Given the description of an element on the screen output the (x, y) to click on. 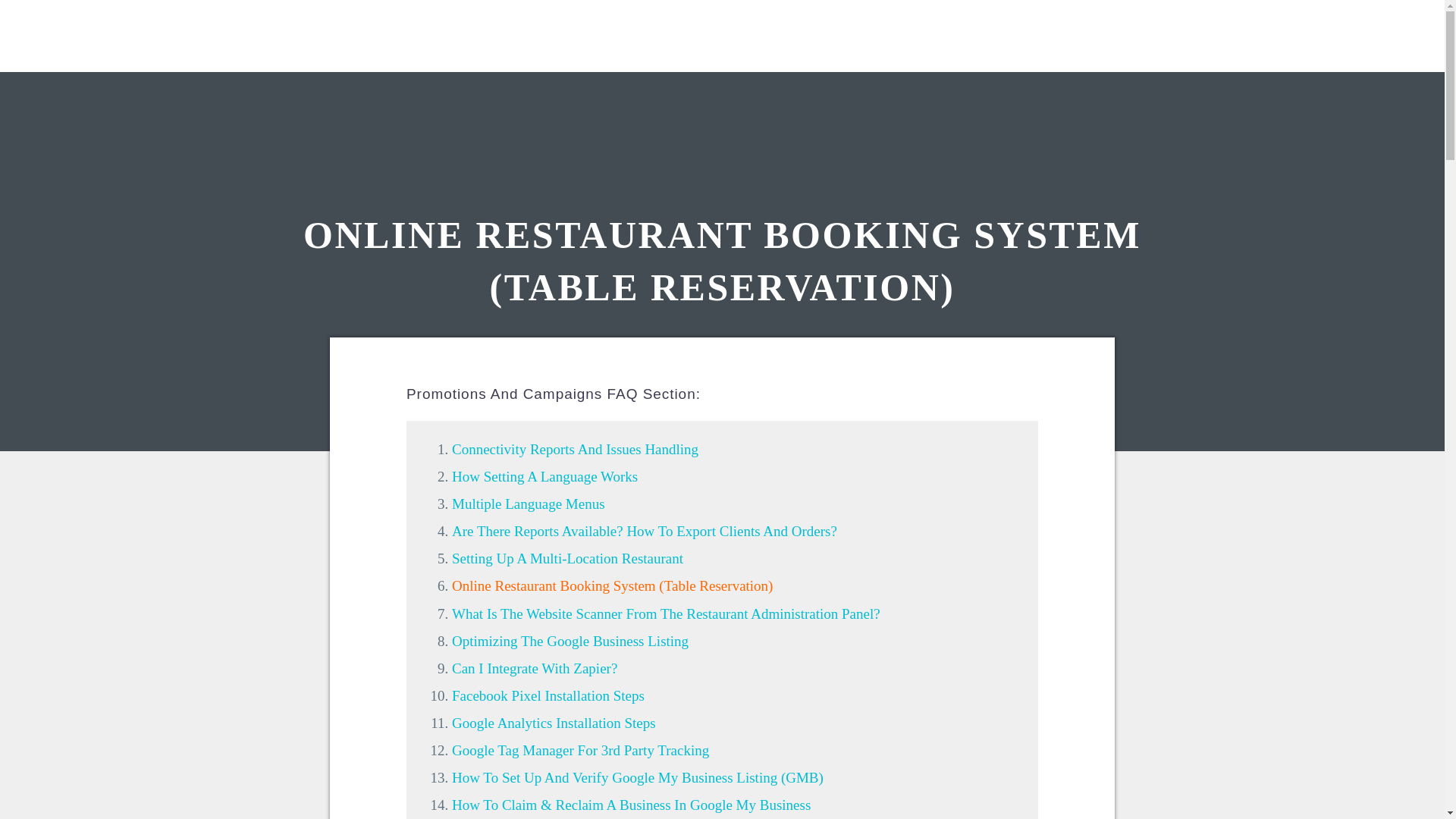
Google Analytics Installation Steps (553, 722)
Google Tag Manager For 3rd Party Tracking (580, 750)
Connectivity Reports And Issues Handling (574, 449)
Setting Up A Multi-Location Restaurant (566, 558)
Multiple Language Menus (528, 503)
Facebook Pixel Installation Steps (548, 695)
How Setting A Language Works (544, 476)
Can I Integrate With Zapier? (534, 668)
Optimizing The Google Business Listing (569, 641)
